Given the description of an element on the screen output the (x, y) to click on. 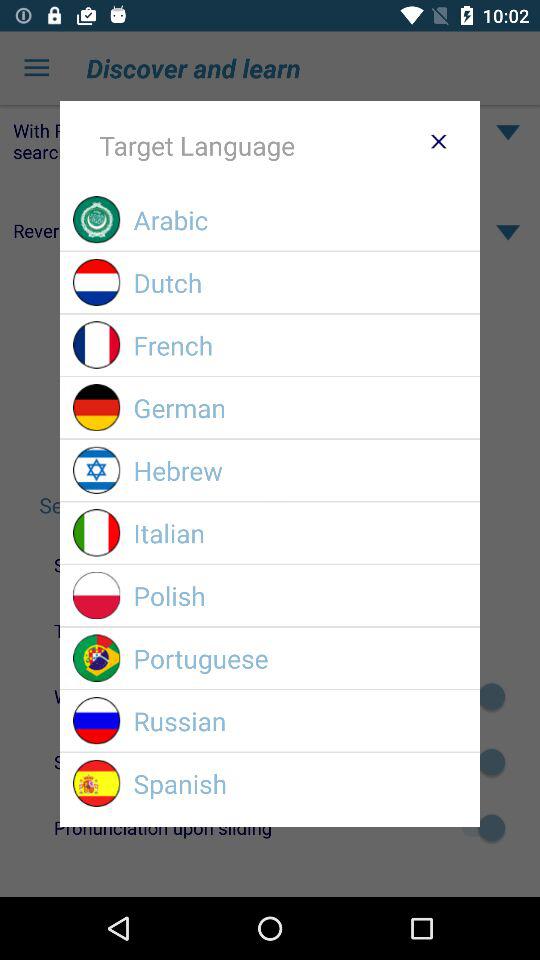
turn off the item above french icon (300, 282)
